Given the description of an element on the screen output the (x, y) to click on. 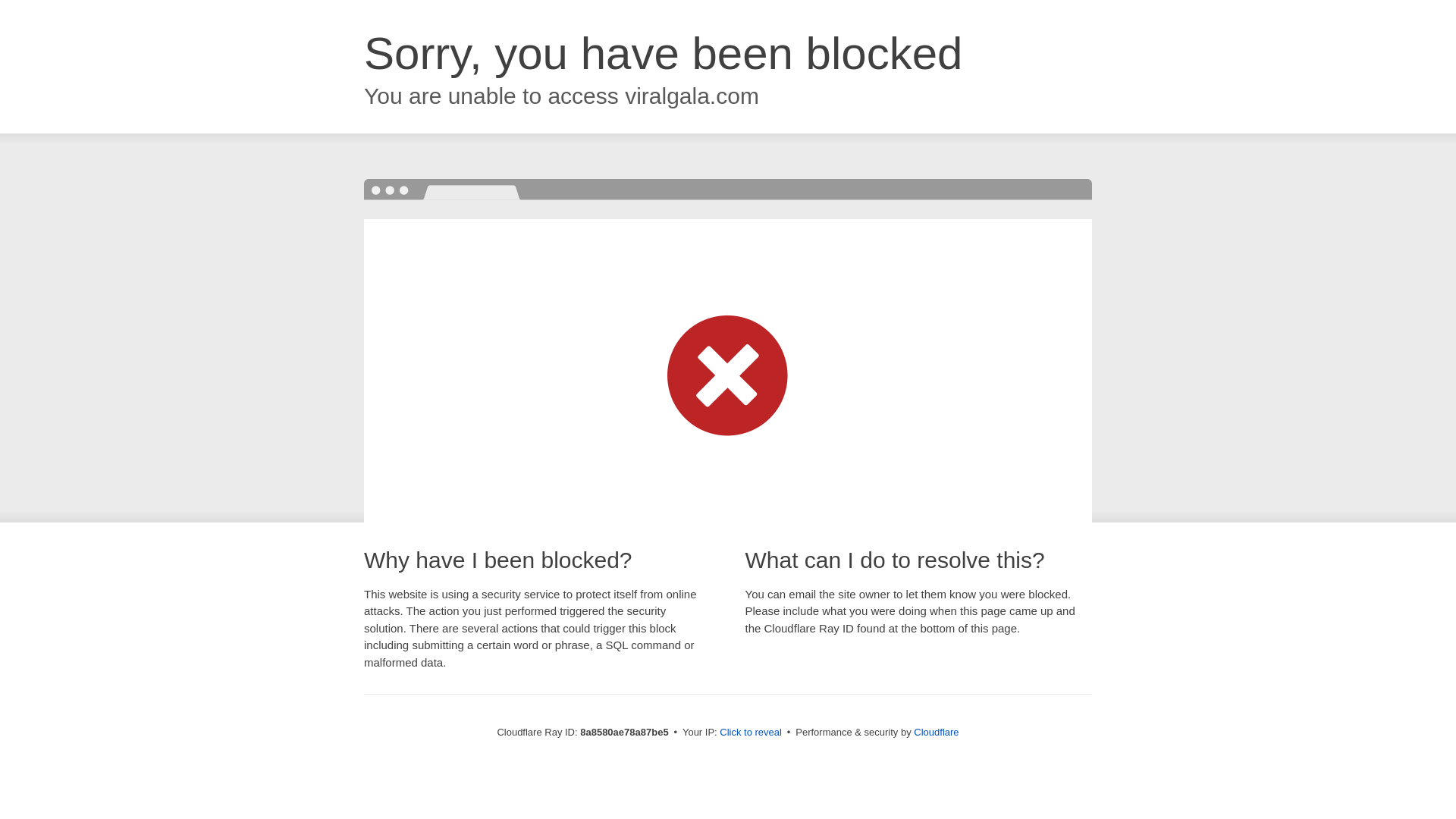
Click to reveal (750, 732)
Cloudflare (936, 731)
